Given the description of an element on the screen output the (x, y) to click on. 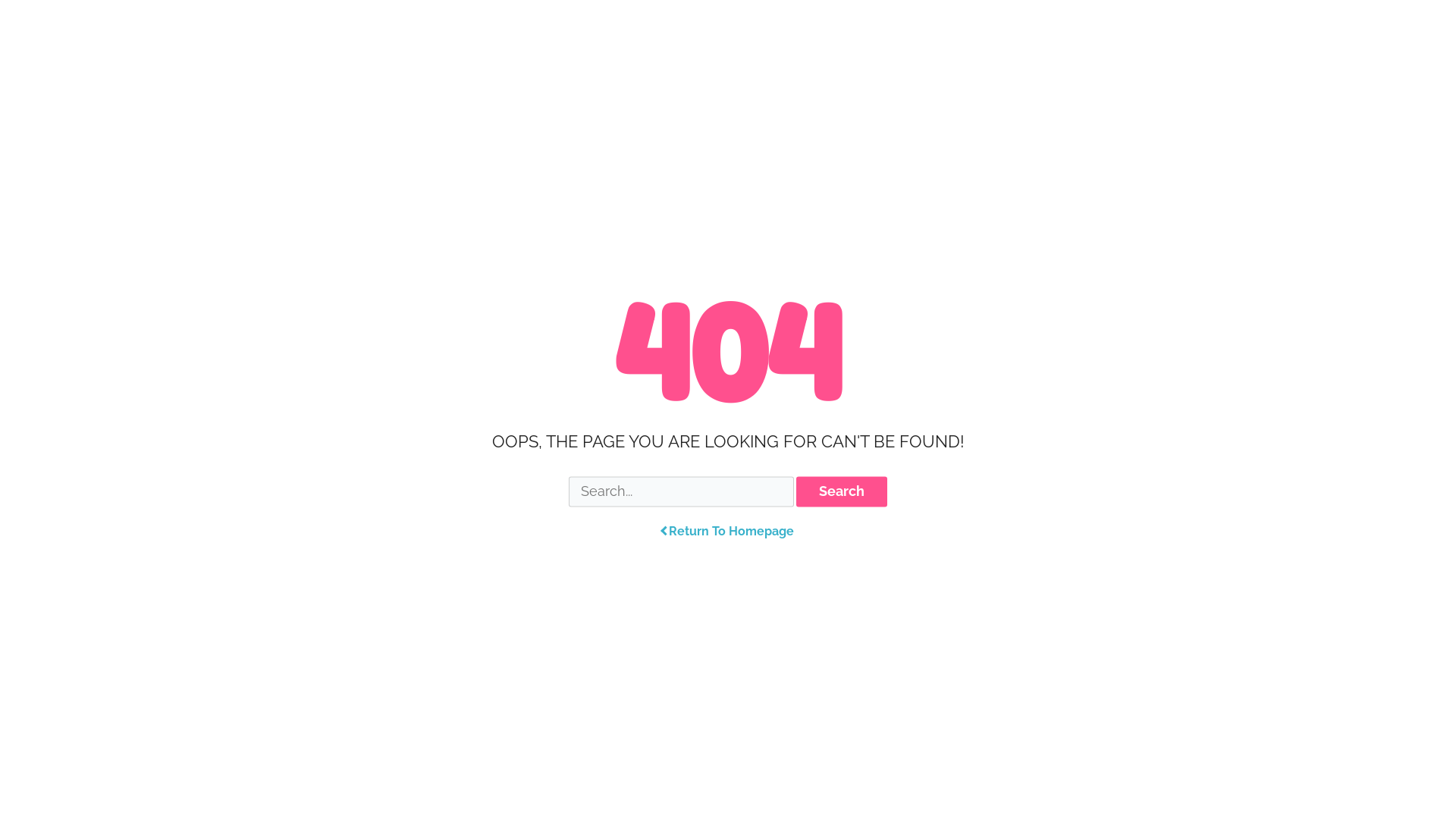
Search Element type: text (841, 491)
Return To Homepage Element type: text (727, 531)
